Given the description of an element on the screen output the (x, y) to click on. 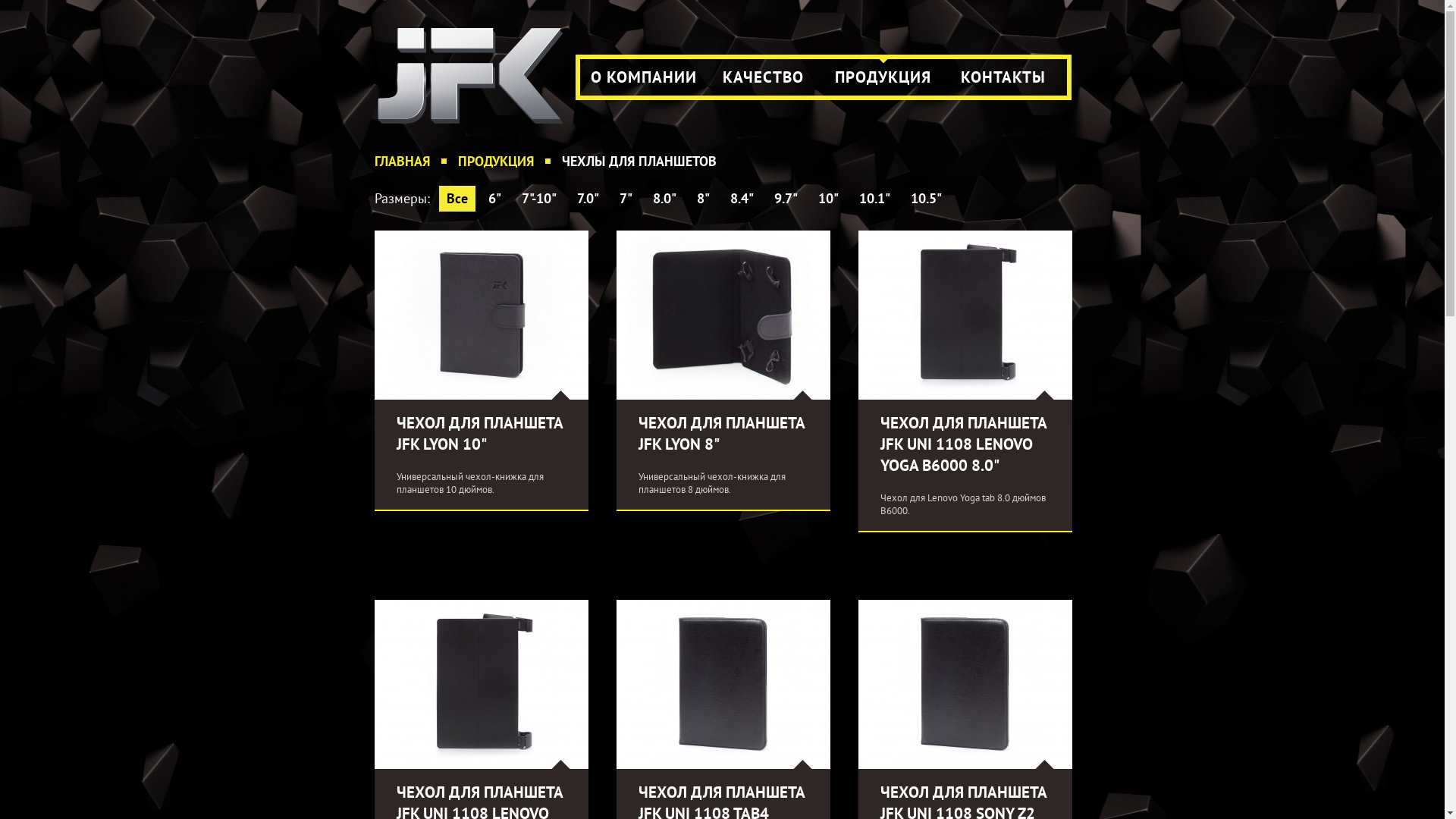
7.0" Element type: text (586, 198)
9.7" Element type: text (784, 198)
7" Element type: text (625, 198)
7"-10" Element type: text (539, 198)
8.4" Element type: text (740, 198)
10" Element type: text (827, 198)
8" Element type: text (702, 198)
8.0" Element type: text (663, 198)
6" Element type: text (494, 198)
10.5" Element type: text (925, 198)
10.1" Element type: text (873, 198)
